Given the description of an element on the screen output the (x, y) to click on. 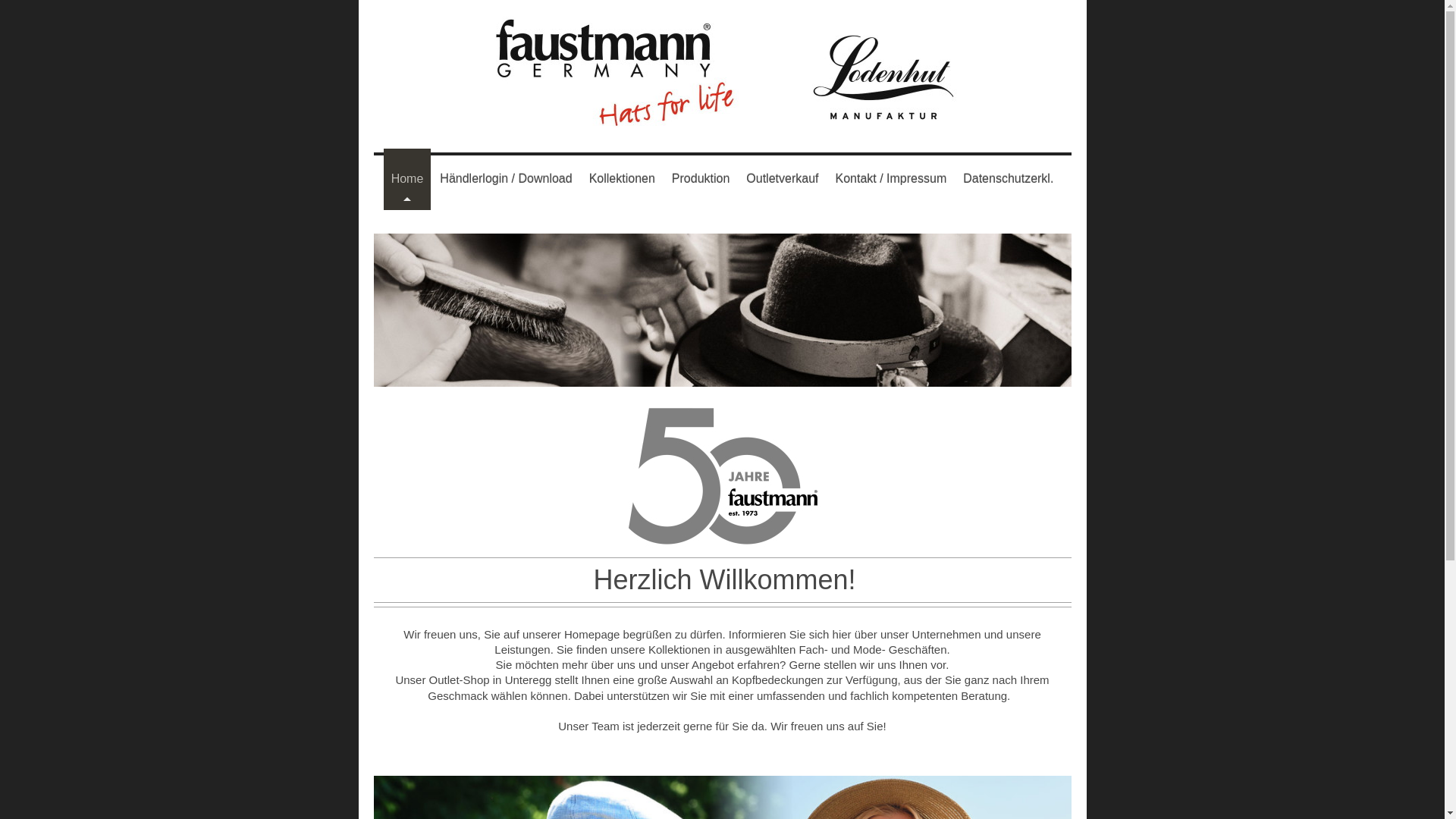
Kontakt / Impressum Element type: text (890, 179)
Home Element type: text (407, 179)
Outletverkauf Element type: text (781, 179)
Kollektionen Element type: text (621, 179)
Datenschutzerkl. Element type: text (1007, 179)
Produktion Element type: text (700, 179)
